Given the description of an element on the screen output the (x, y) to click on. 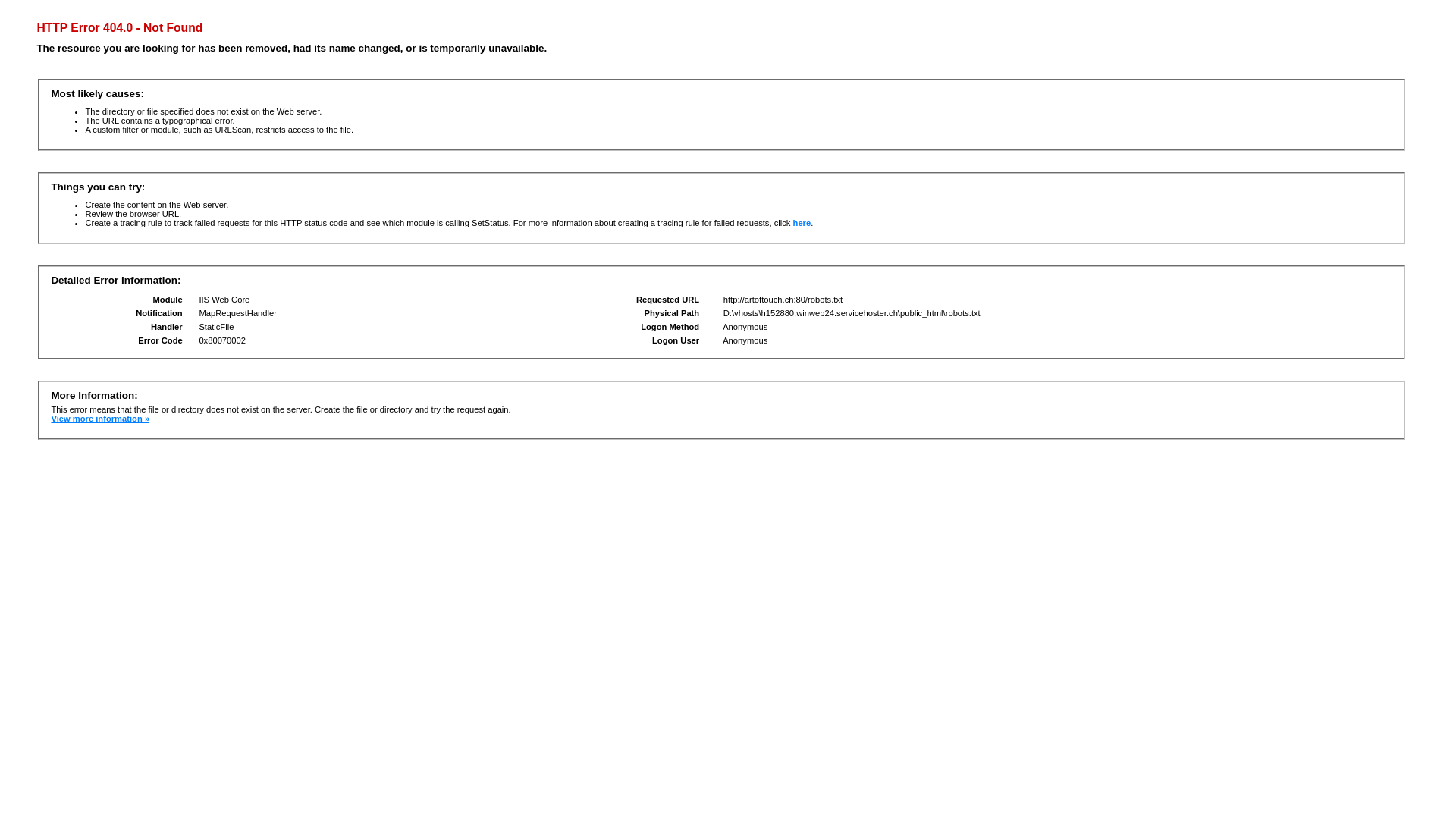
here Element type: text (802, 222)
